Given the description of an element on the screen output the (x, y) to click on. 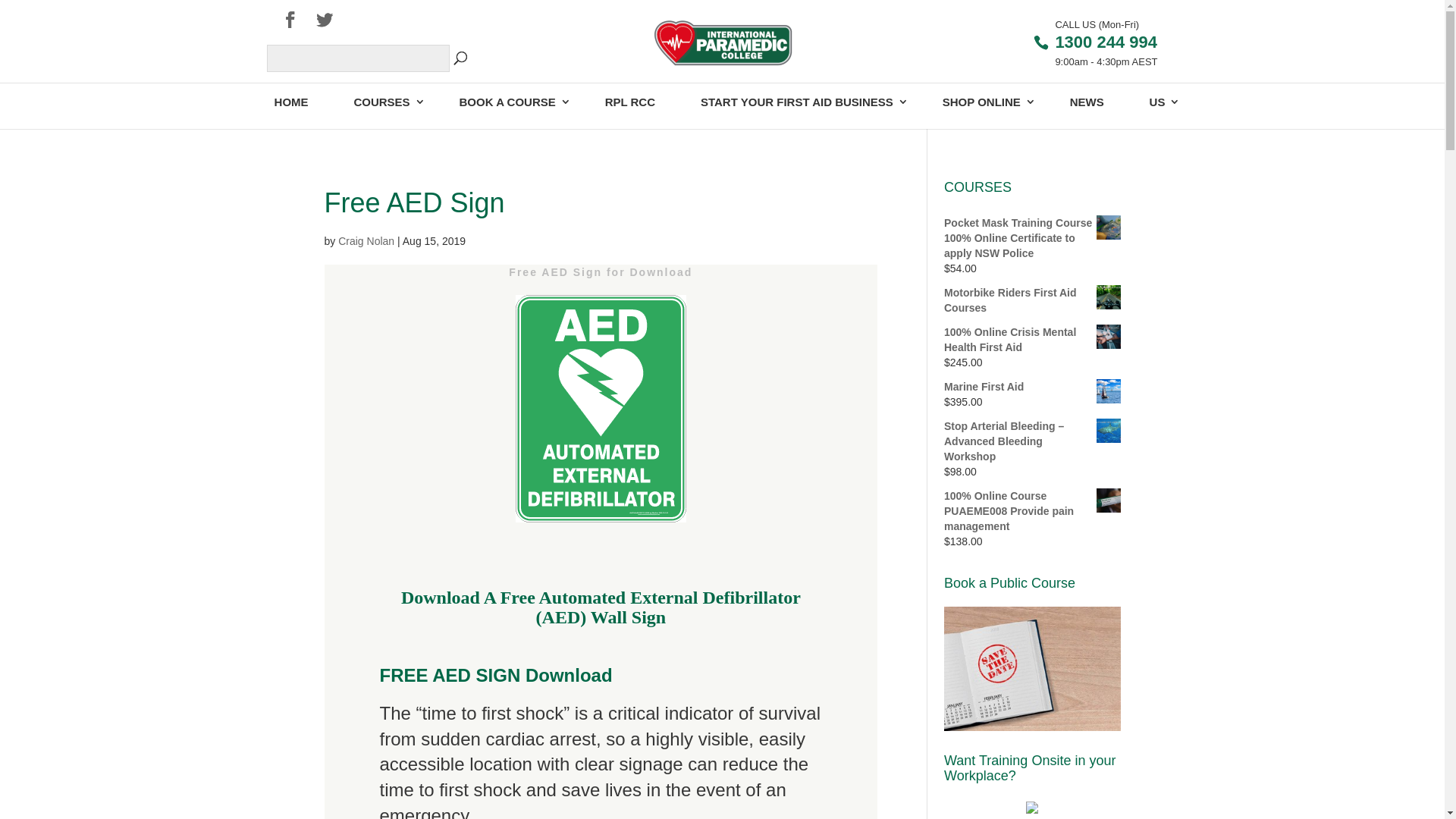
100% Online Crisis Mental Health First Aid Element type: text (1032, 339)
COURSES Element type: text (383, 102)
RPL RCC Element type: text (629, 102)
HOME Element type: text (291, 102)
US Element type: text (1159, 102)
START YOUR FIRST AID BUSINESS Element type: text (798, 102)
NEWS Element type: text (1086, 102)
Motorbike Riders First Aid Courses Element type: text (1032, 300)
1300 244 994 Element type: text (1105, 41)
100% Online Course PUAEME008 Provide pain management Element type: text (1032, 510)
Marine First Aid Element type: text (1032, 386)
SHOP ONLINE Element type: text (983, 102)
Craig Nolan Element type: text (366, 241)
BOOK A COURSE Element type: text (509, 102)
